Given the description of an element on the screen output the (x, y) to click on. 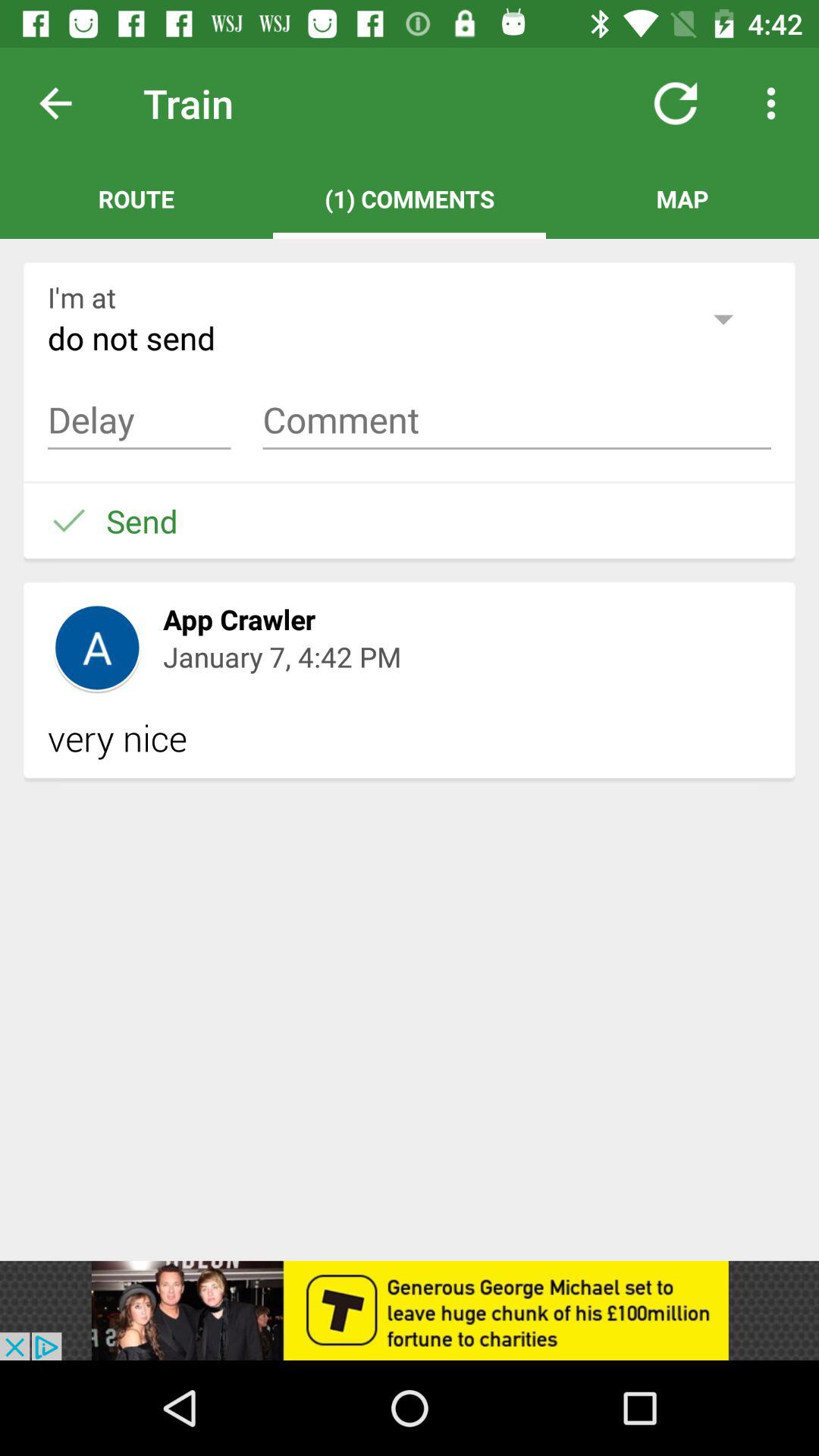
view a comment (138, 420)
